Given the description of an element on the screen output the (x, y) to click on. 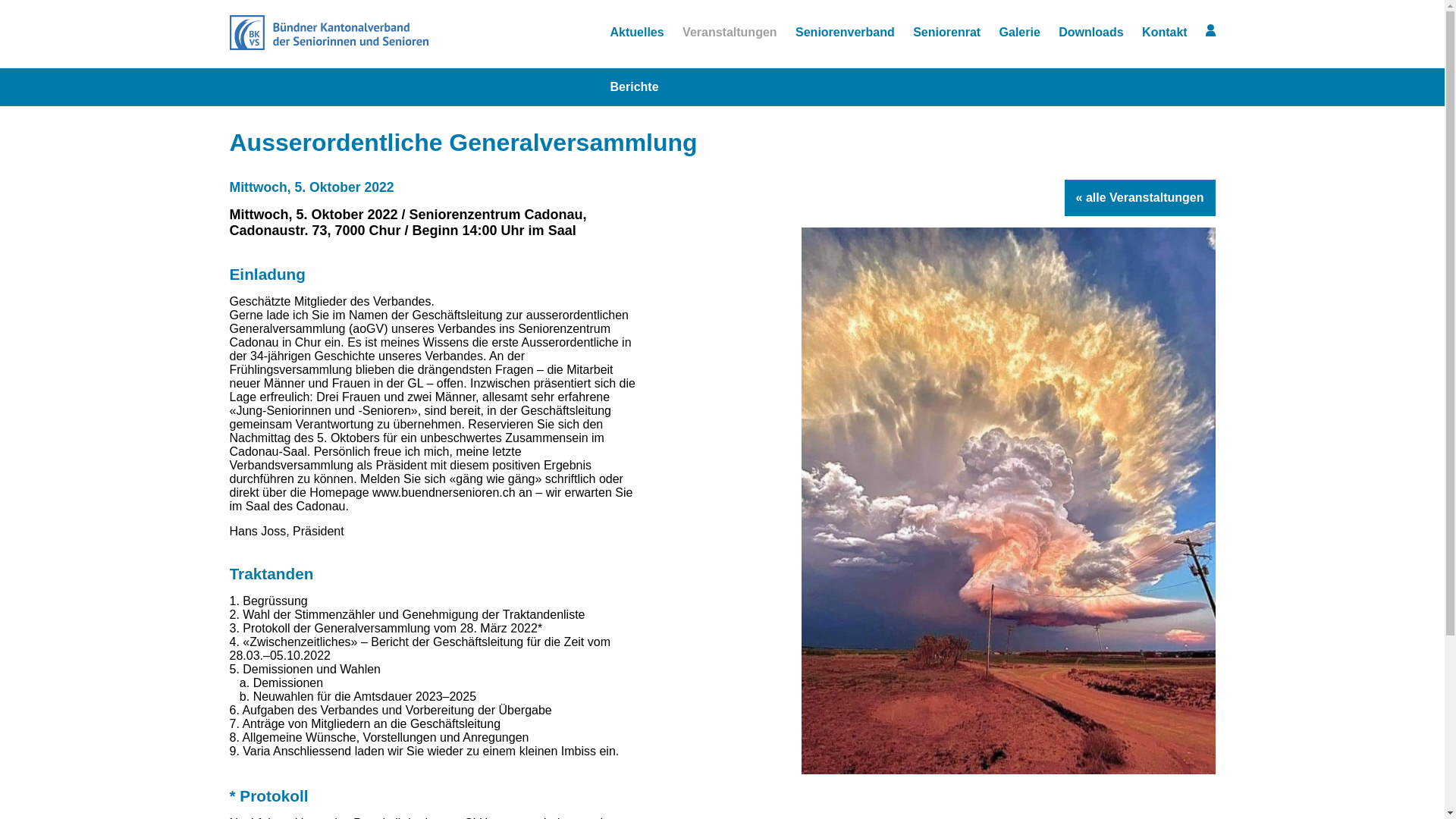
Intern Element type: hover (1209, 32)
Galerie Element type: text (1019, 32)
Seniorenverband Element type: text (844, 32)
Startseite Element type: hover (328, 45)
Kontakt Element type: text (1164, 32)
Veranstaltungen Element type: text (729, 32)
Seniorenrat Element type: text (946, 32)
Berichte Element type: text (633, 87)
Aktuelles Element type: text (636, 32)
Downloads Element type: text (1090, 32)
